Given the description of an element on the screen output the (x, y) to click on. 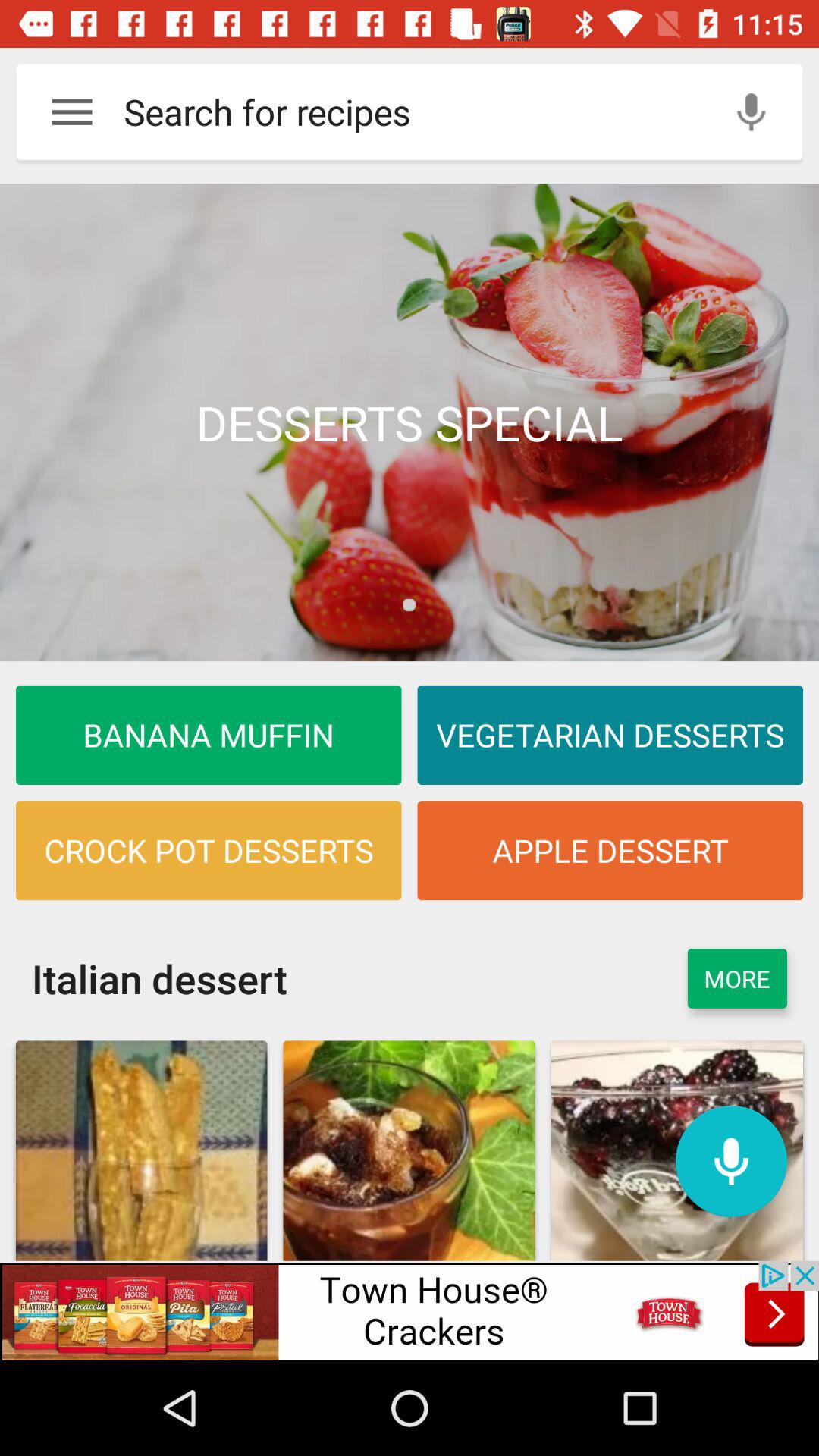
advertisement (409, 1310)
